Given the description of an element on the screen output the (x, y) to click on. 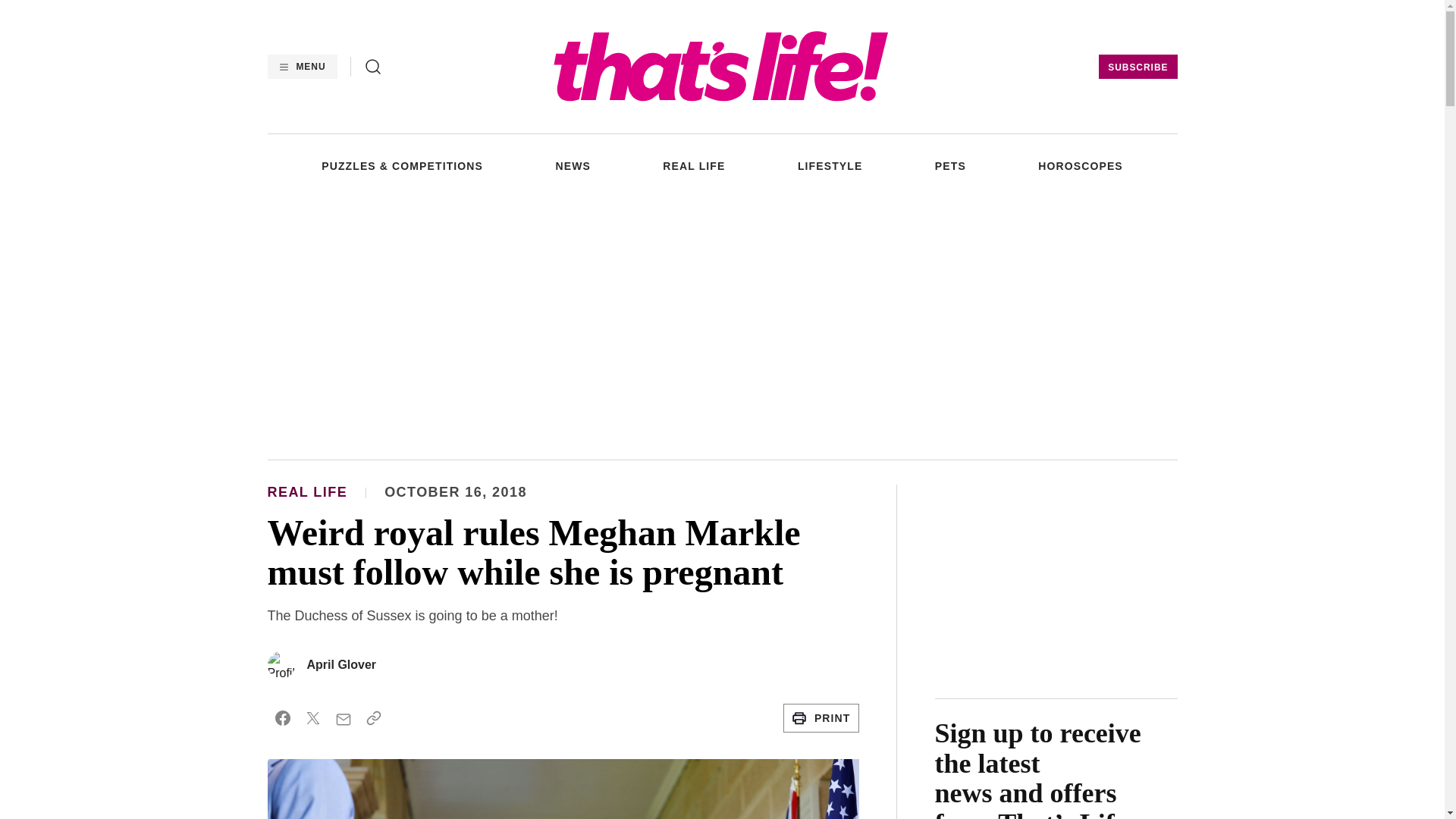
HOROSCOPES (1080, 165)
3rd party ad content (721, 325)
REAL LIFE (693, 165)
3rd party ad content (1055, 579)
MENU (301, 66)
PETS (950, 165)
LIFESTYLE (830, 165)
NEWS (571, 165)
SUBSCRIBE (1137, 66)
